Given the description of an element on the screen output the (x, y) to click on. 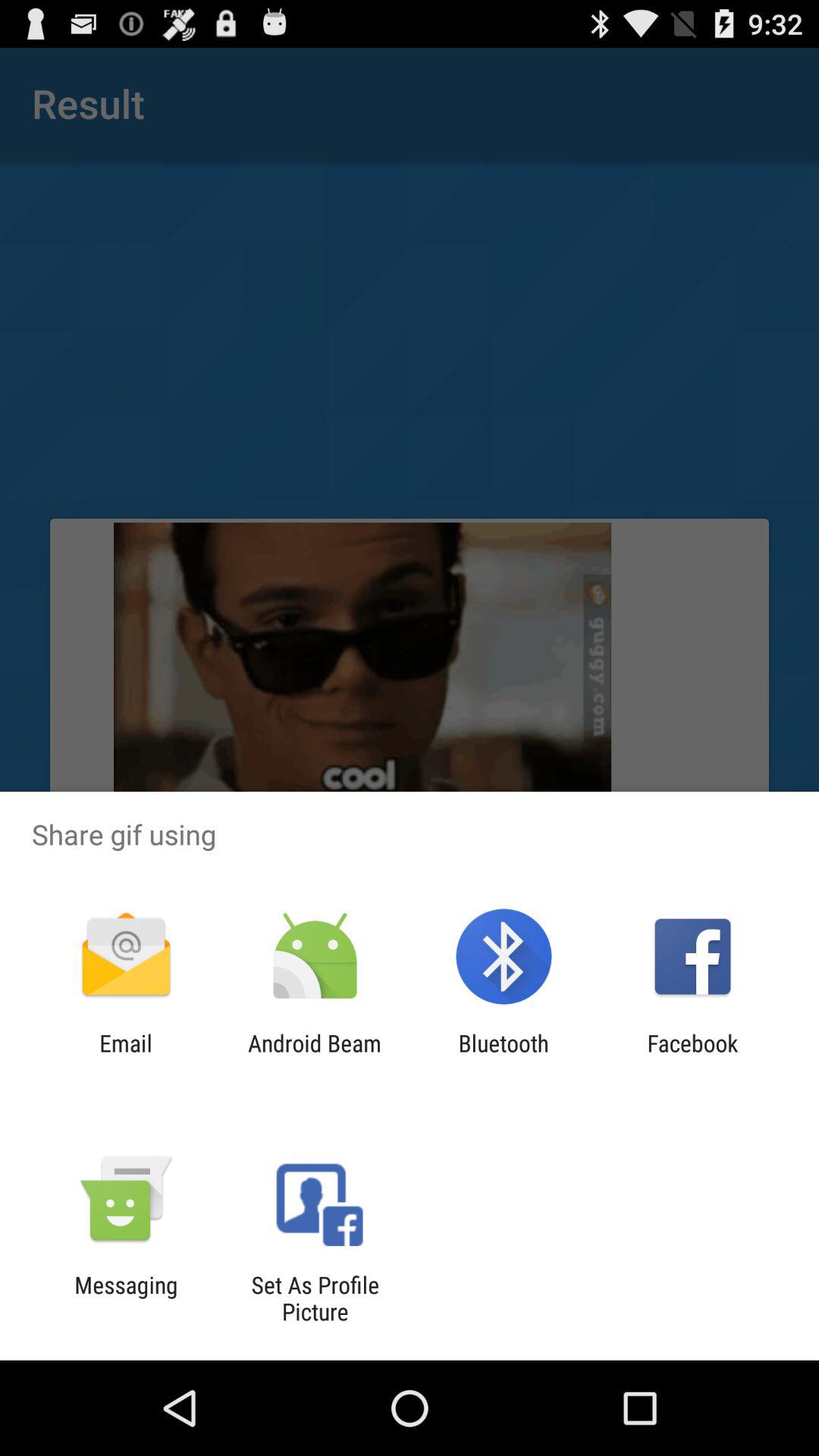
select item to the right of messaging item (314, 1298)
